Given the description of an element on the screen output the (x, y) to click on. 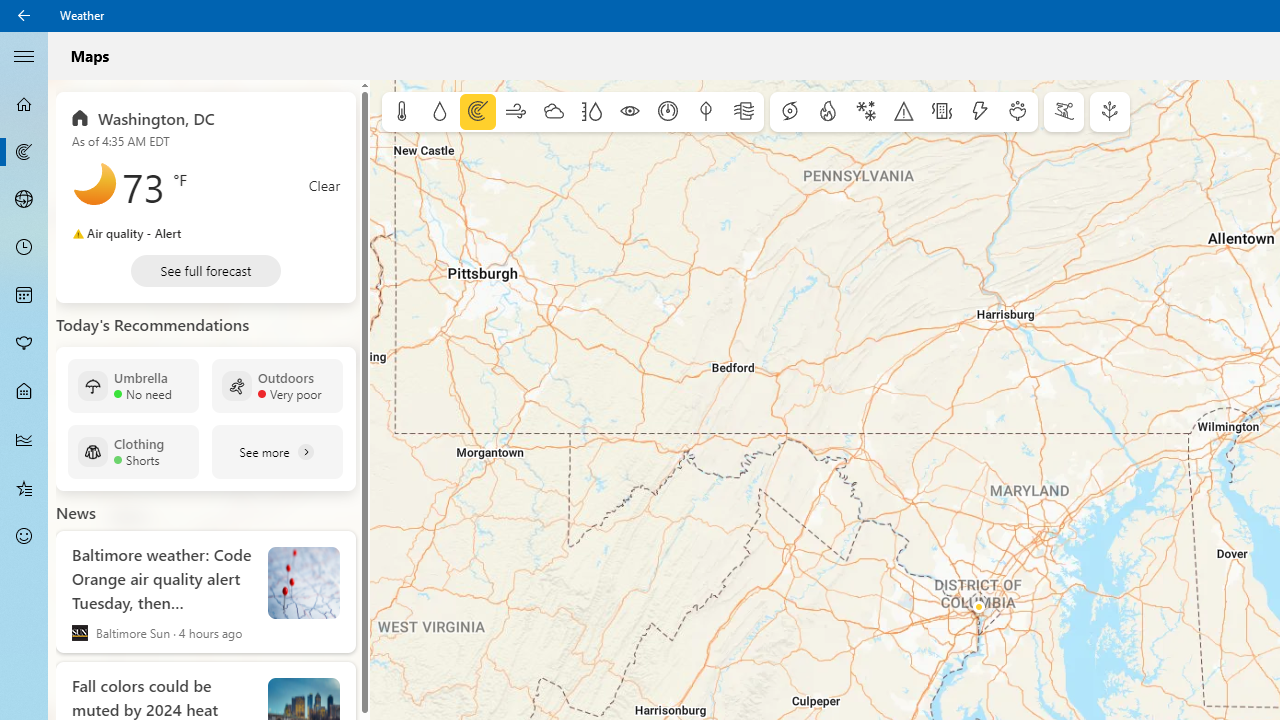
Send Feedback - Not Selected (24, 535)
Life - Not Selected (24, 391)
Back (24, 15)
3D Maps - Not Selected (24, 199)
Life - Not Selected (24, 391)
Pollen - Not Selected (24, 343)
Monthly Forecast - Not Selected (24, 295)
Send Feedback - Not Selected (24, 535)
Hourly Forecast - Not Selected (24, 247)
Hourly Forecast - Not Selected (24, 247)
Maps - Not Selected (24, 151)
Favorites - Not Selected (24, 487)
Forecast - Not Selected (24, 103)
Forecast - Not Selected (24, 103)
Collapse Navigation (24, 55)
